Given the description of an element on the screen output the (x, y) to click on. 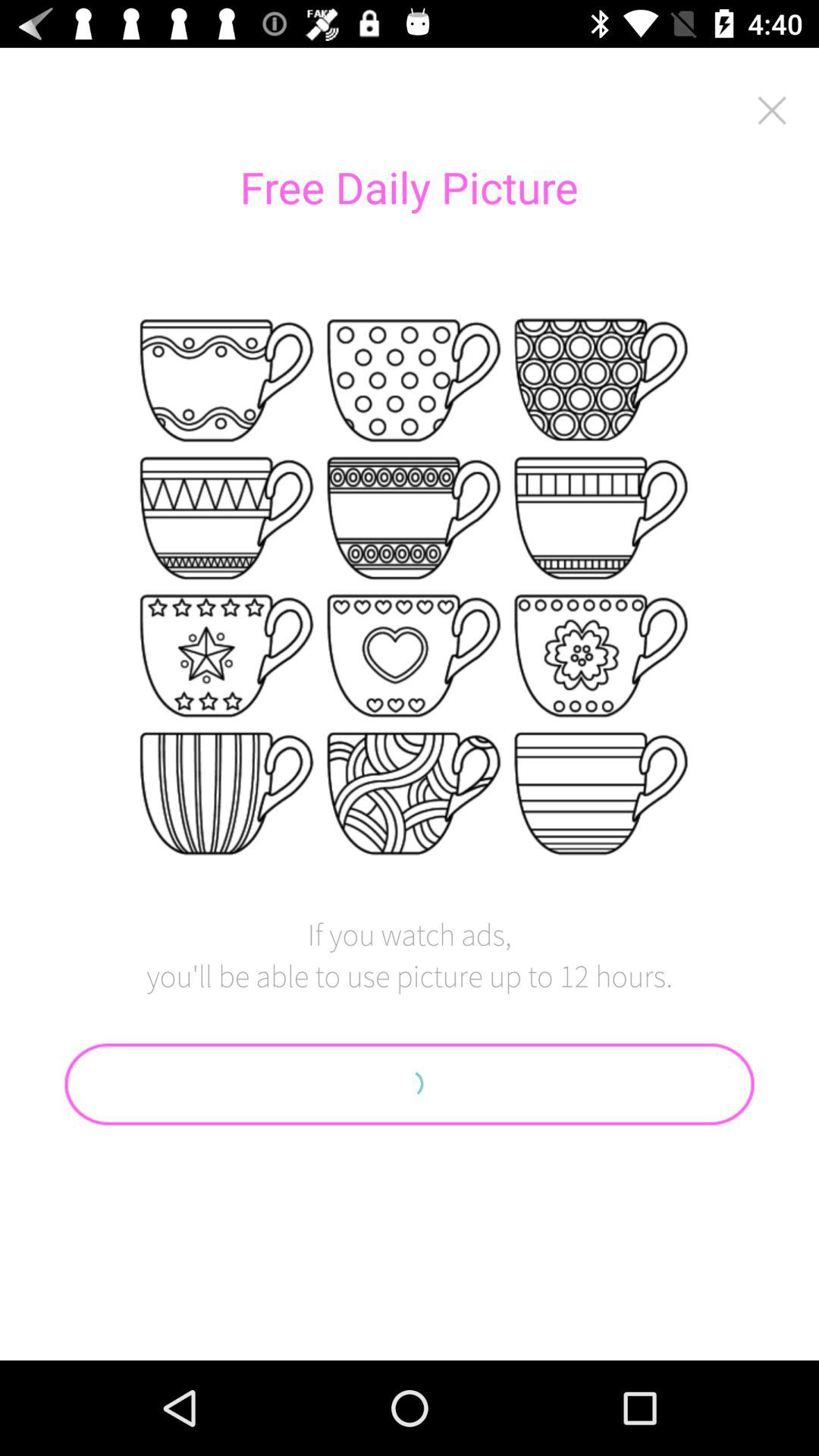
click the icon next to free daily picture item (772, 110)
